Given the description of an element on the screen output the (x, y) to click on. 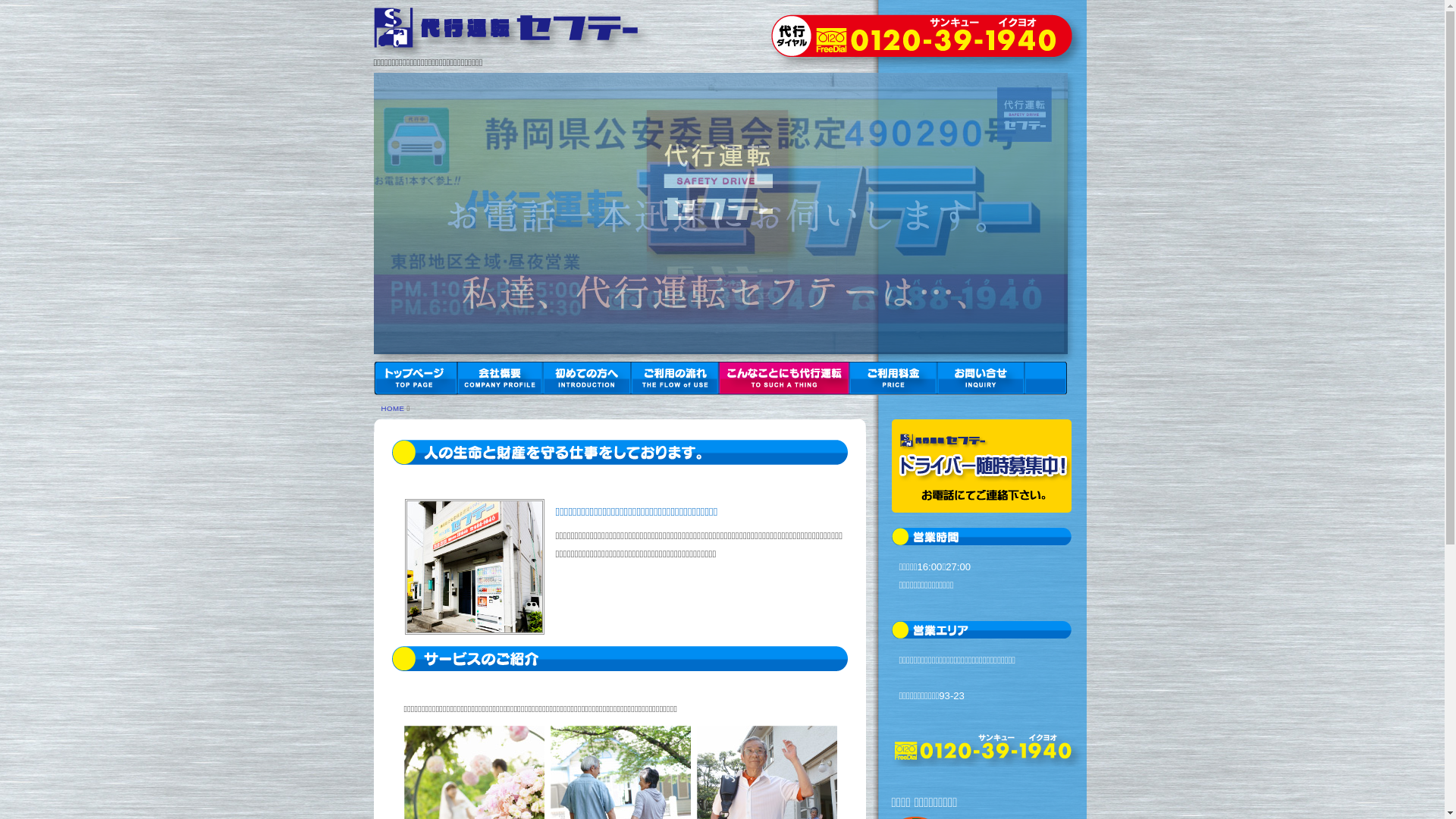
HOME Element type: text (392, 408)
